Given the description of an element on the screen output the (x, y) to click on. 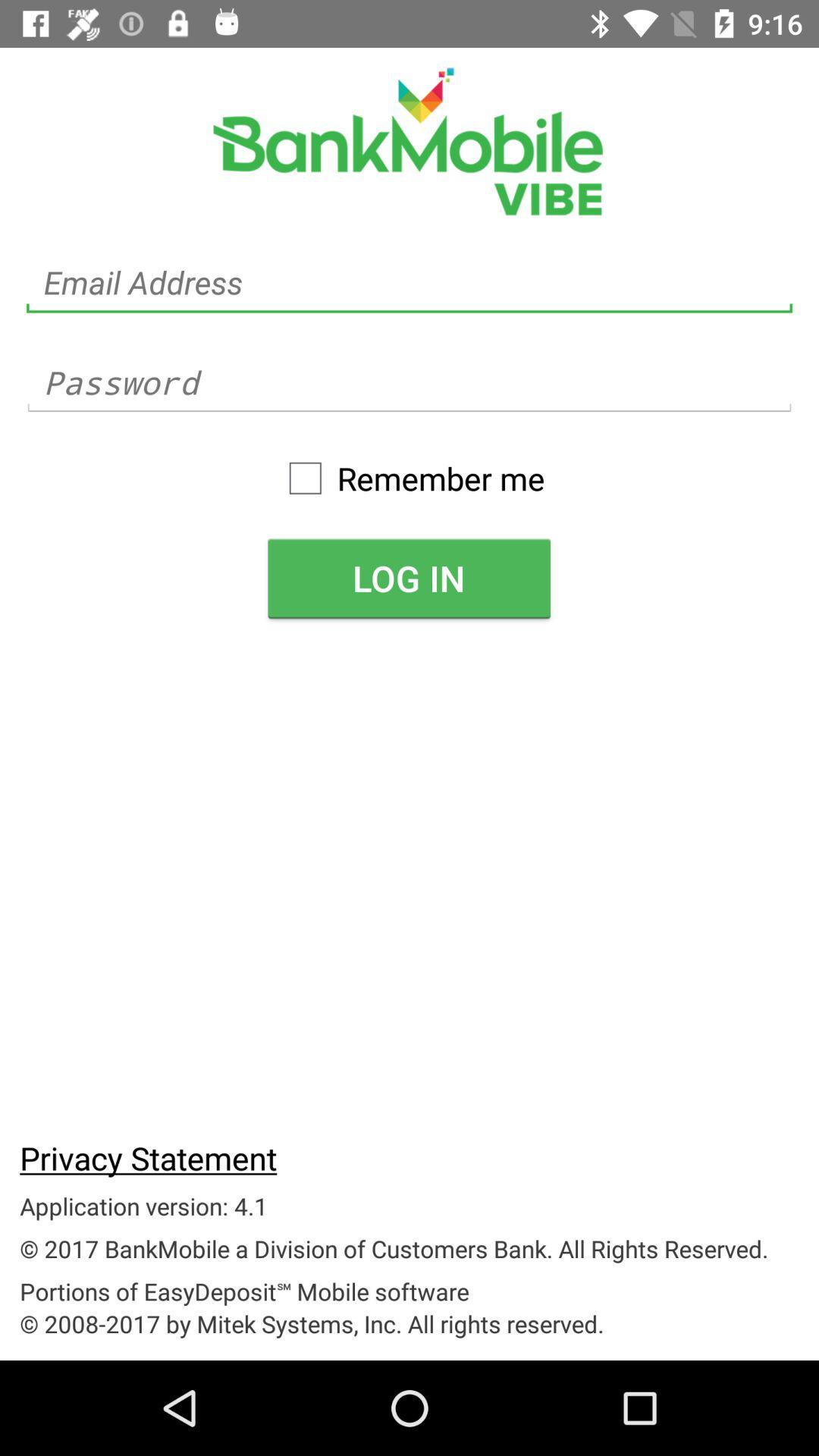
scroll until privacy statement (147, 1157)
